Given the description of an element on the screen output the (x, y) to click on. 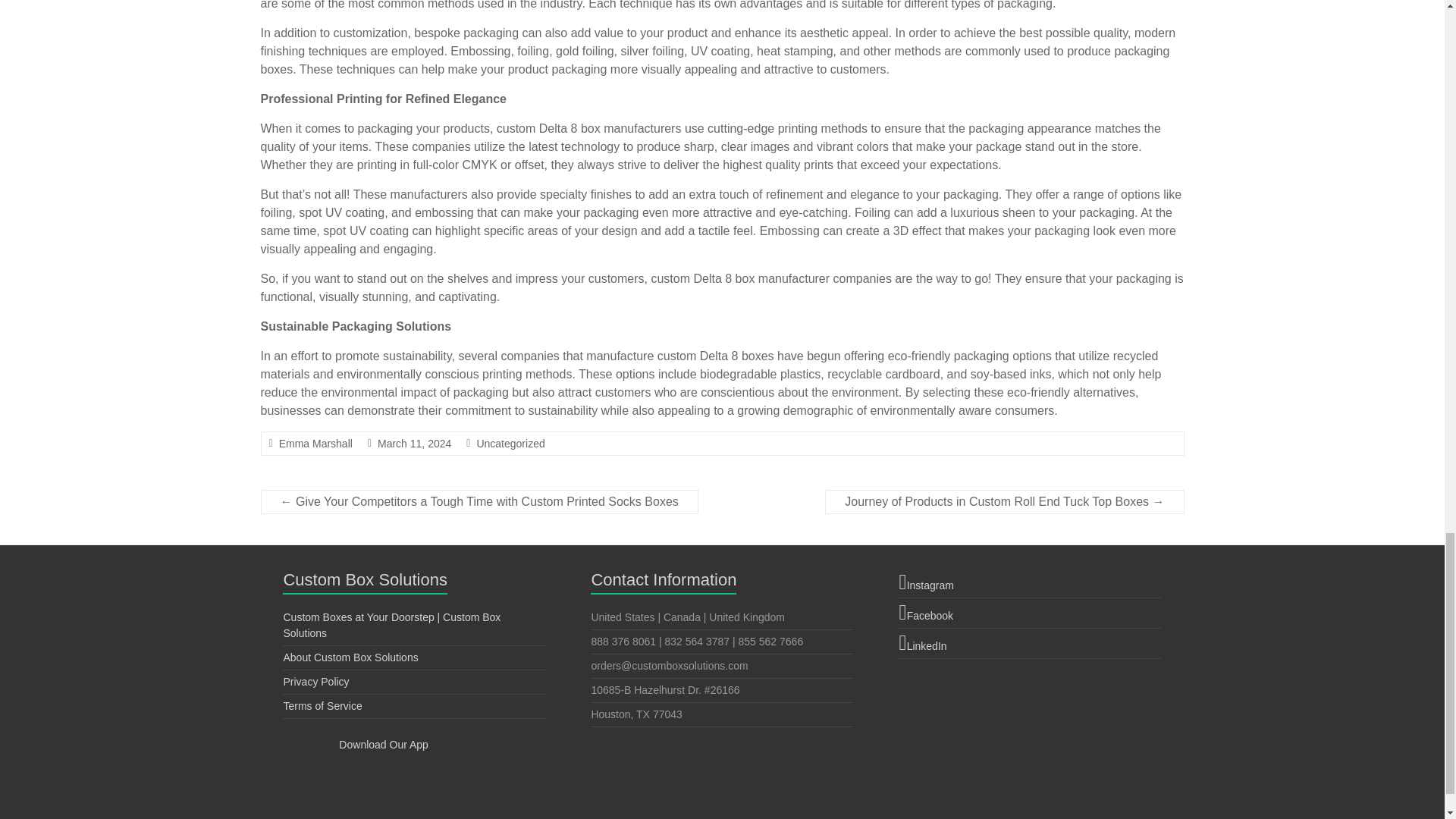
Visit Custom Box Printing on Facebook (1029, 612)
Terms of Service (321, 705)
Instagram (1029, 582)
Facebook (1029, 612)
Privacy Policy (315, 681)
1:49 pm (414, 443)
Download Our App (355, 744)
LinkedIn (1029, 643)
Visit Custom Box Printing on LinkedIn (1029, 643)
About Custom Box Solutions (349, 657)
